Given the description of an element on the screen output the (x, y) to click on. 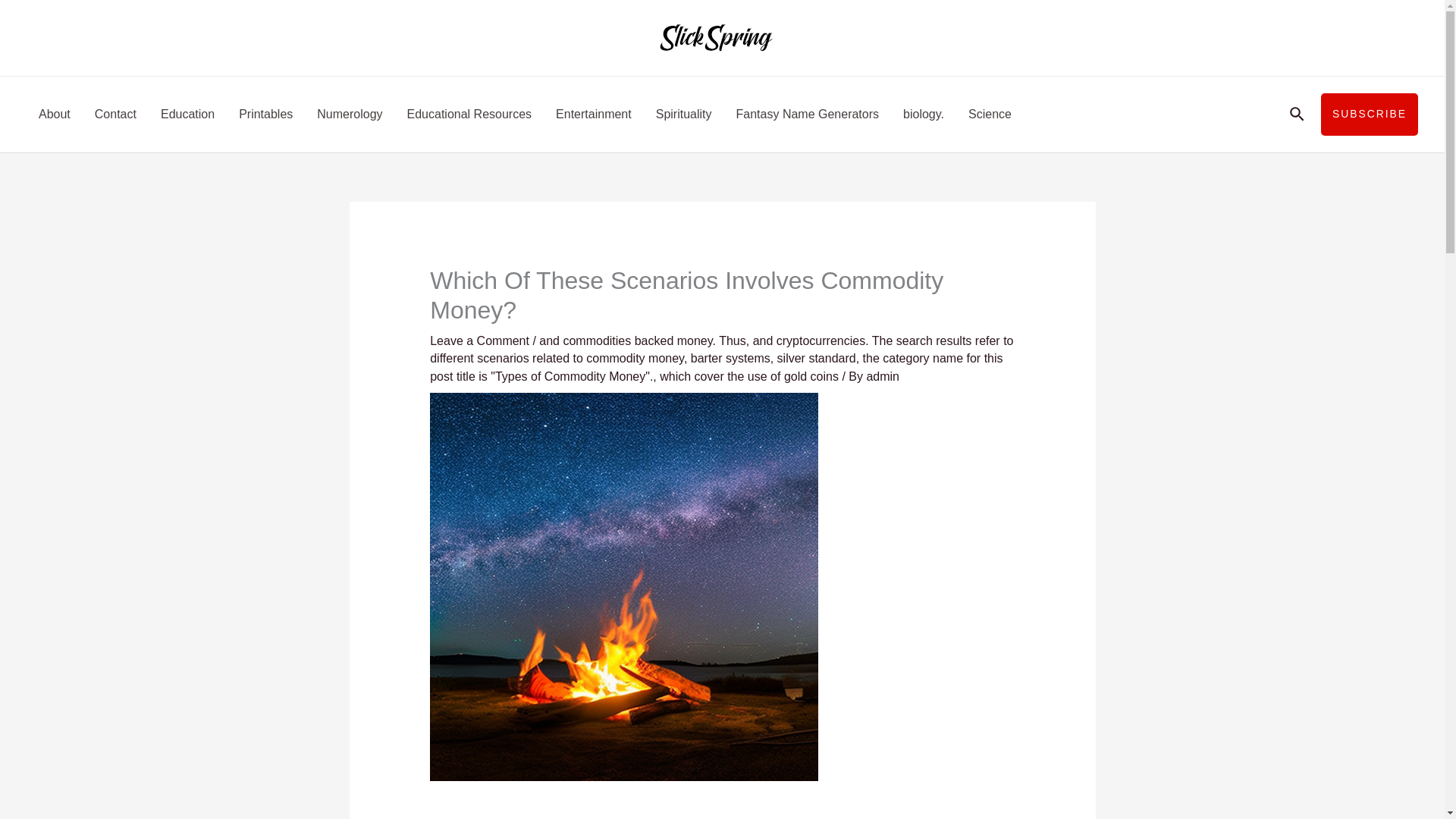
SUBSCRIBE (1369, 114)
silver standard (816, 358)
Educational Resources (469, 114)
Science (989, 114)
admin (882, 376)
View all posts by admin (882, 376)
and commodities backed money. Thus (641, 340)
barter systems (730, 358)
Fantasy Name Generators (807, 114)
Numerology (349, 114)
Printables (265, 114)
Entertainment (593, 114)
Spirituality (683, 114)
Leave a Comment (479, 340)
